Given the description of an element on the screen output the (x, y) to click on. 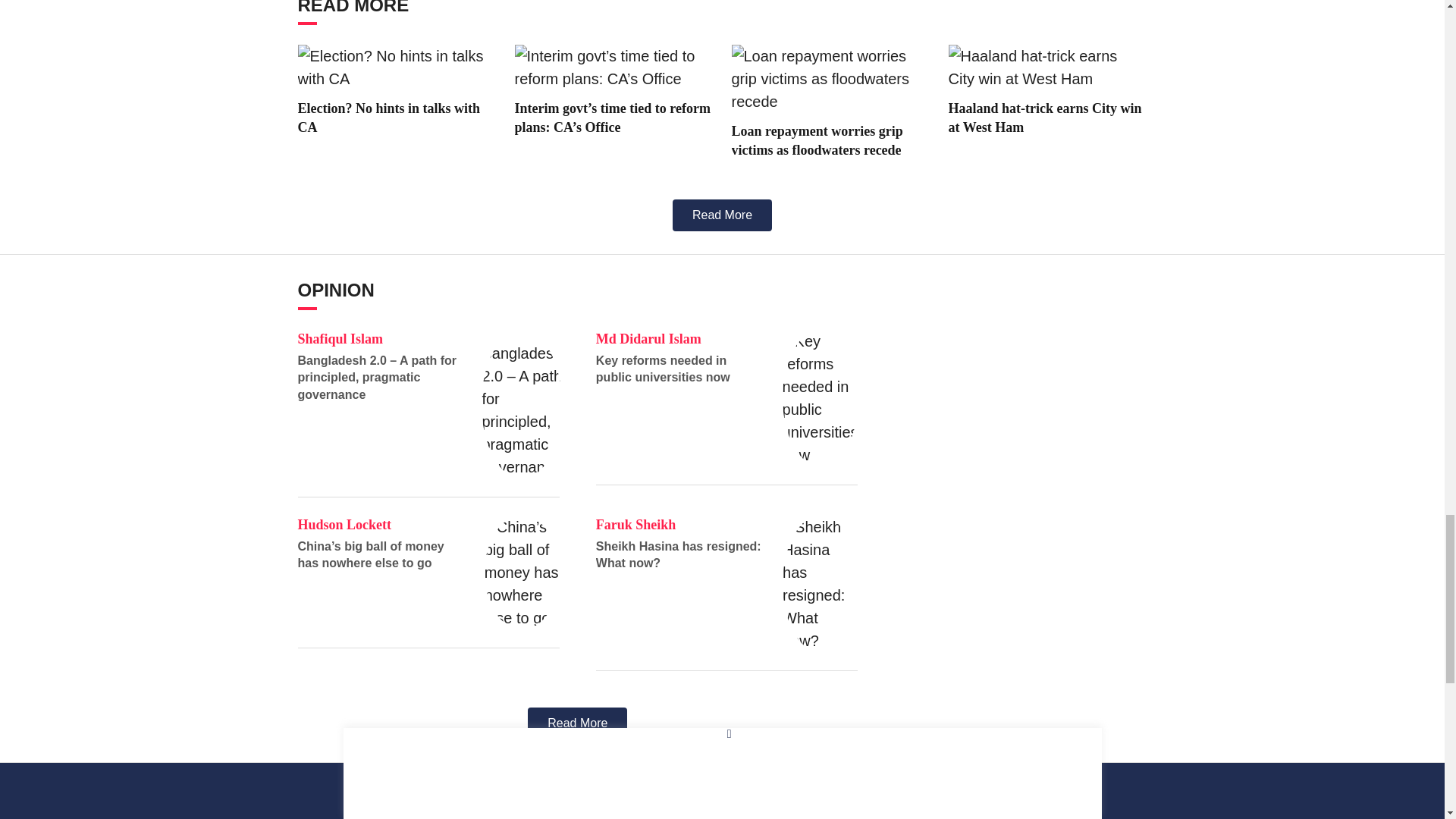
Haaland hat-trick earns City win at West Ham (1047, 67)
Election? No hints in talks with CA (396, 67)
Loan repayment worries grip victims as floodwaters recede (830, 79)
